Given the description of an element on the screen output the (x, y) to click on. 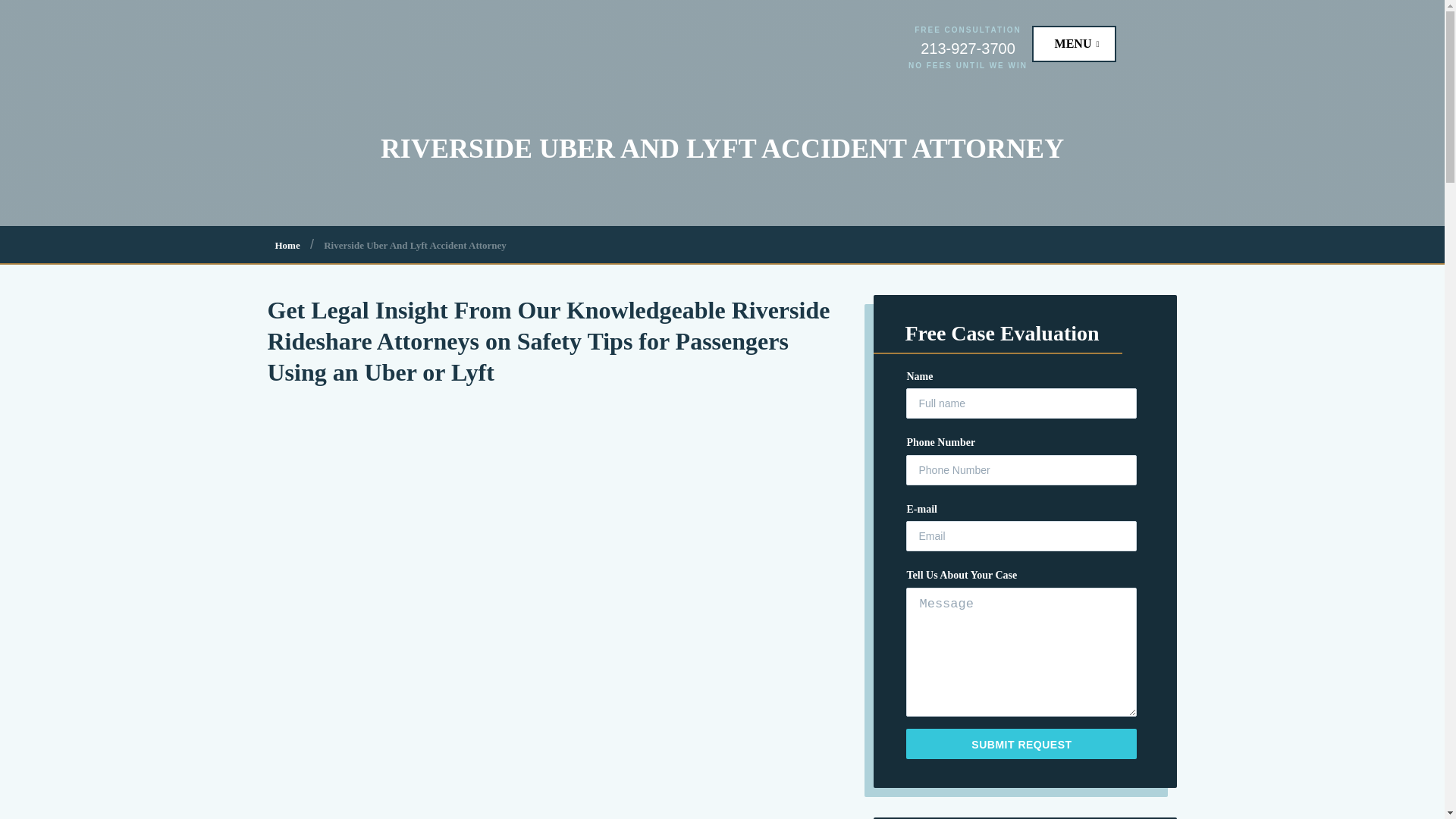
213-927-3700 (967, 48)
Home (287, 244)
SUBMIT REQUEST (1021, 743)
MENU (1079, 43)
